Given the description of an element on the screen output the (x, y) to click on. 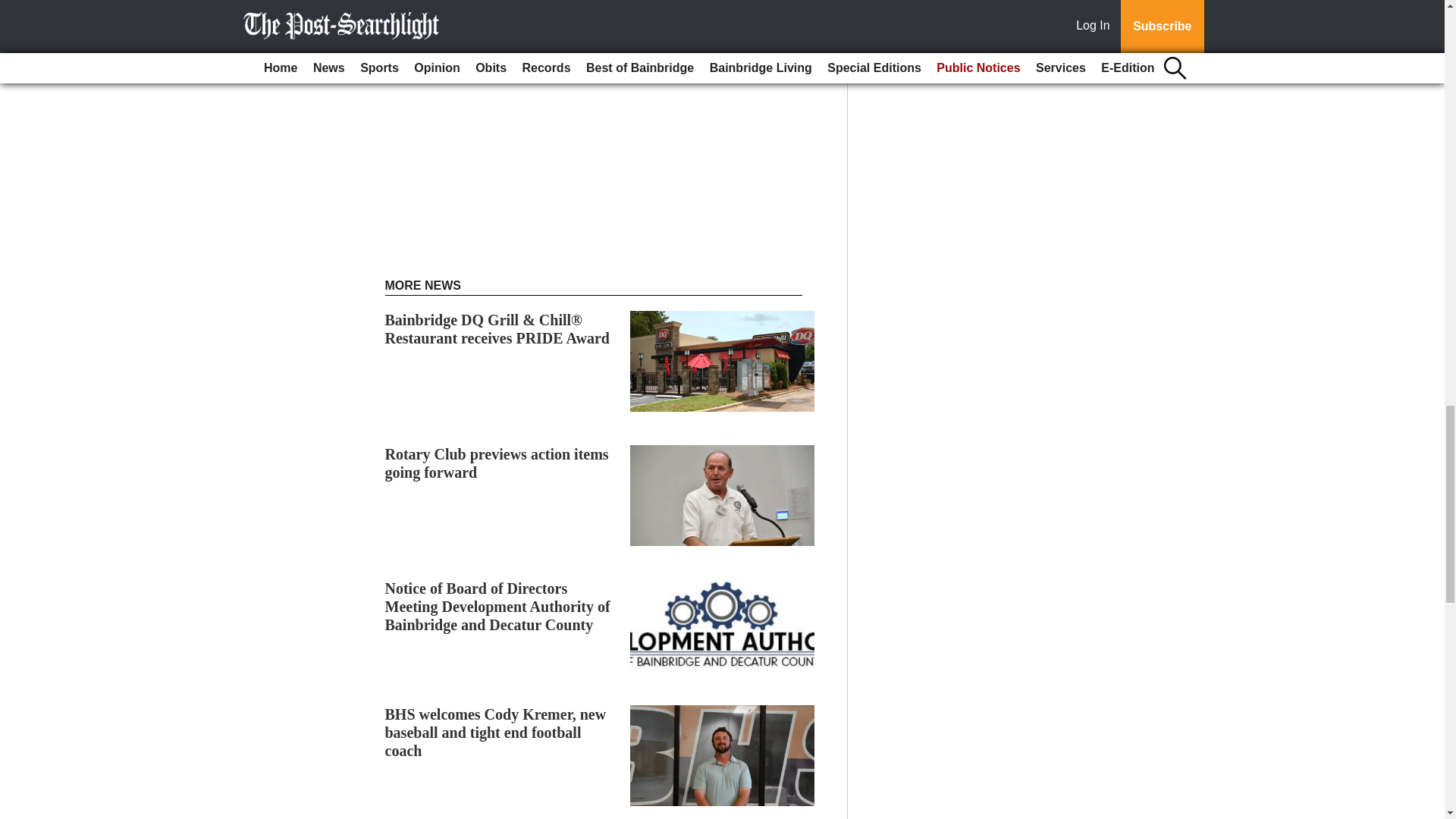
Rotary Club previews action items going forward (496, 462)
